Given the description of an element on the screen output the (x, y) to click on. 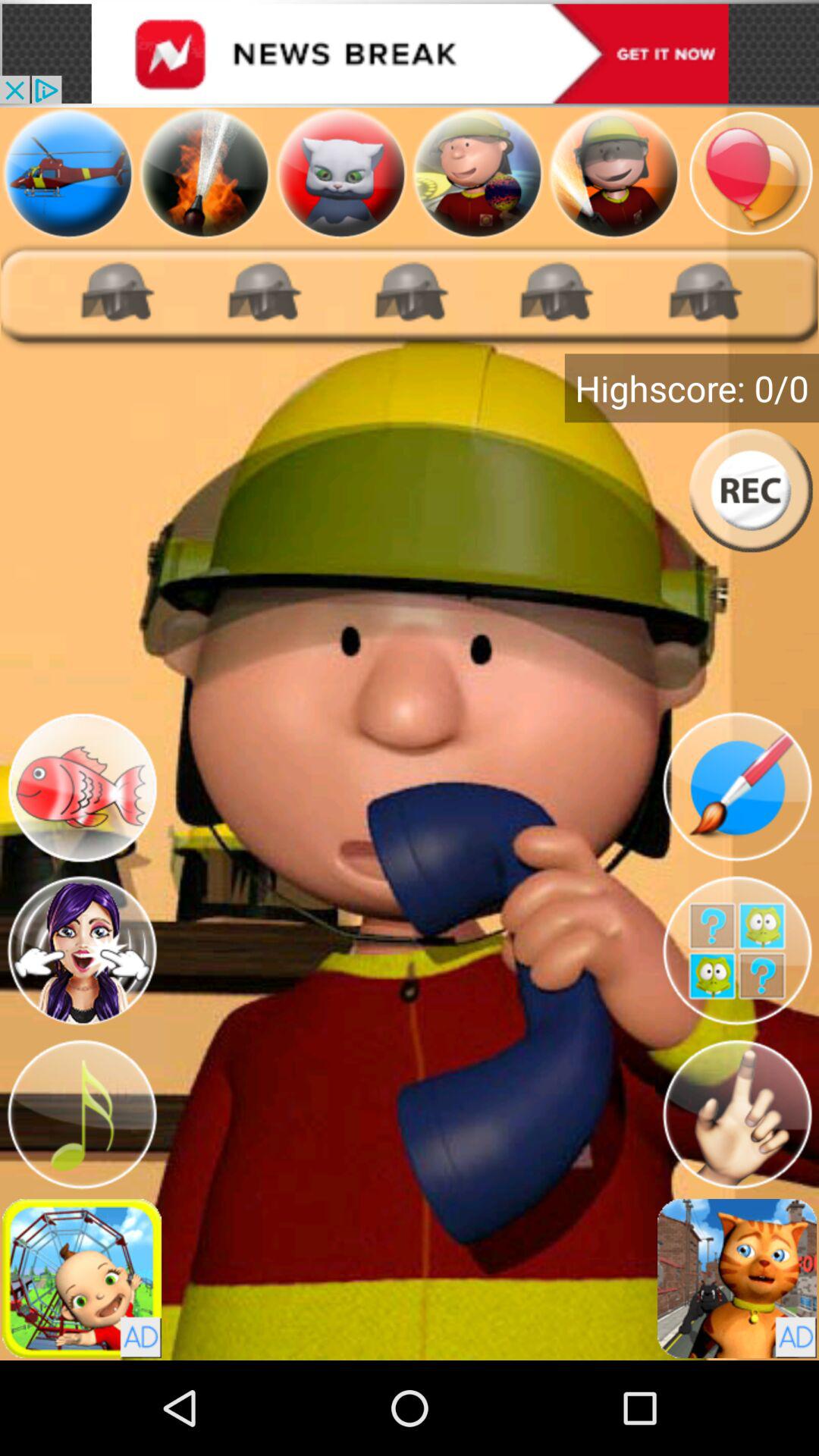
select water hose (204, 173)
